Given the description of an element on the screen output the (x, y) to click on. 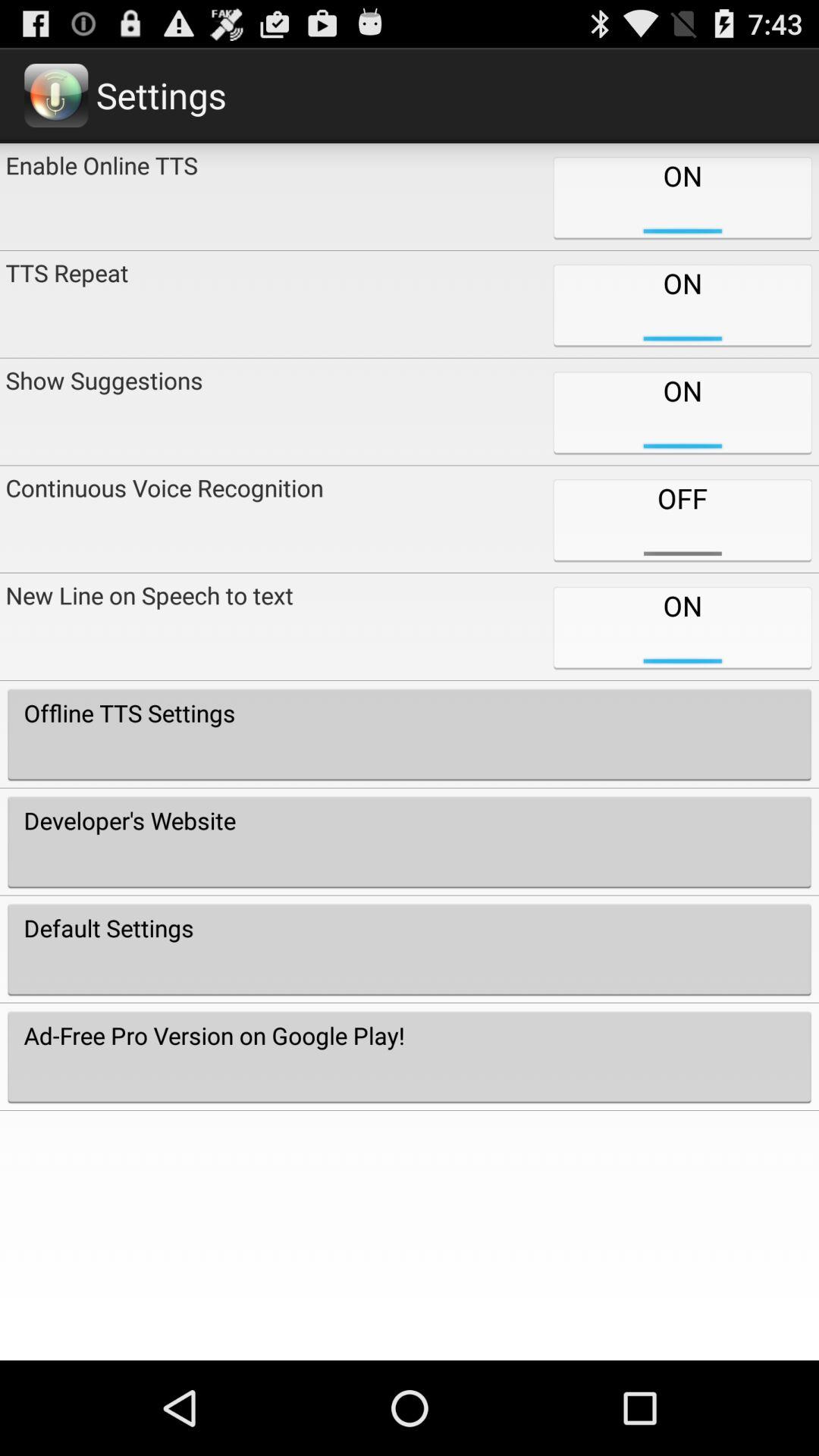
jump to the offline tts settings icon (409, 734)
